Given the description of an element on the screen output the (x, y) to click on. 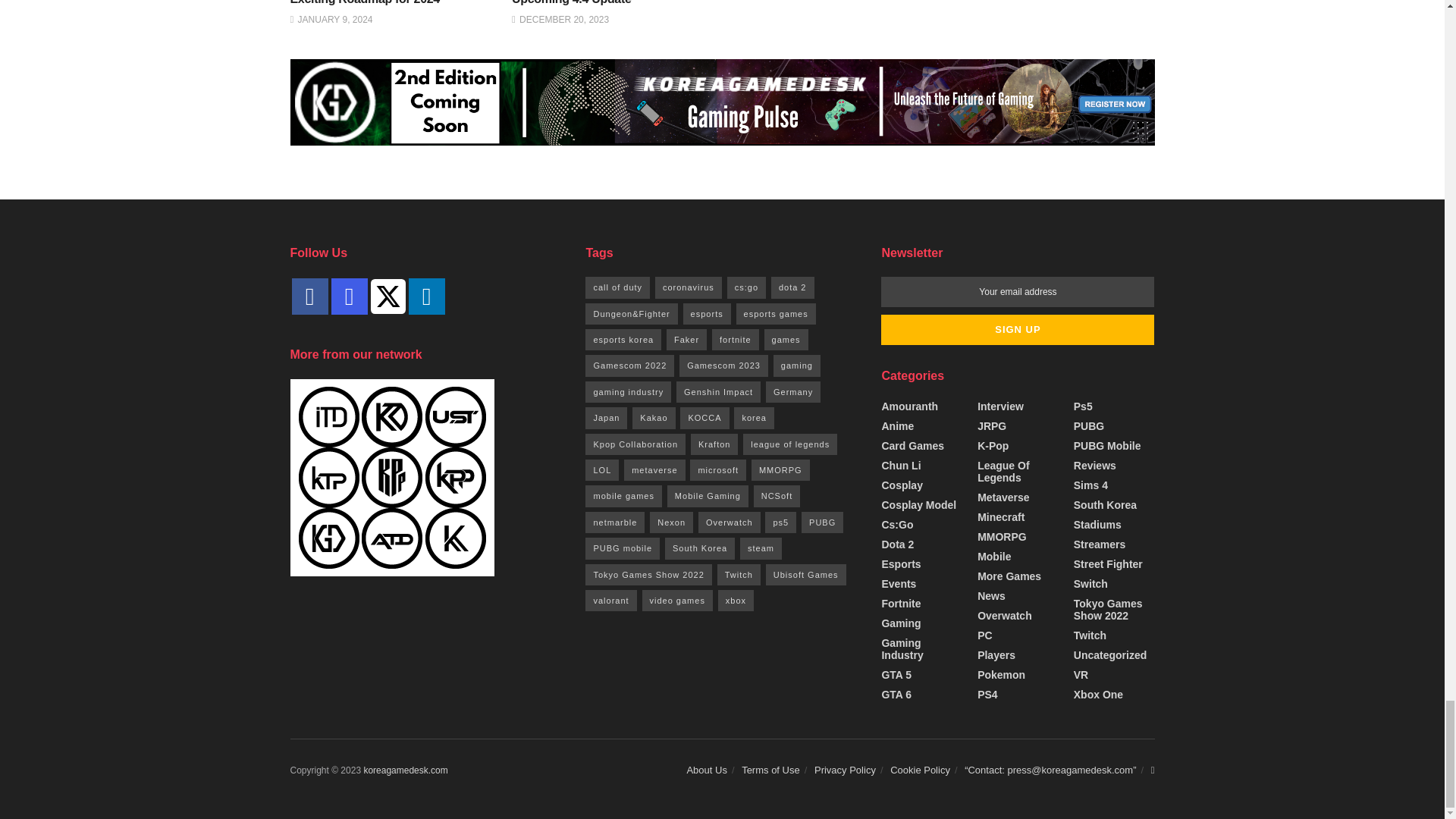
instagram (348, 296)
linkedin (425, 296)
twitter (387, 295)
facebook (309, 296)
Sign up (1017, 329)
twitter (386, 296)
